Given the description of an element on the screen output the (x, y) to click on. 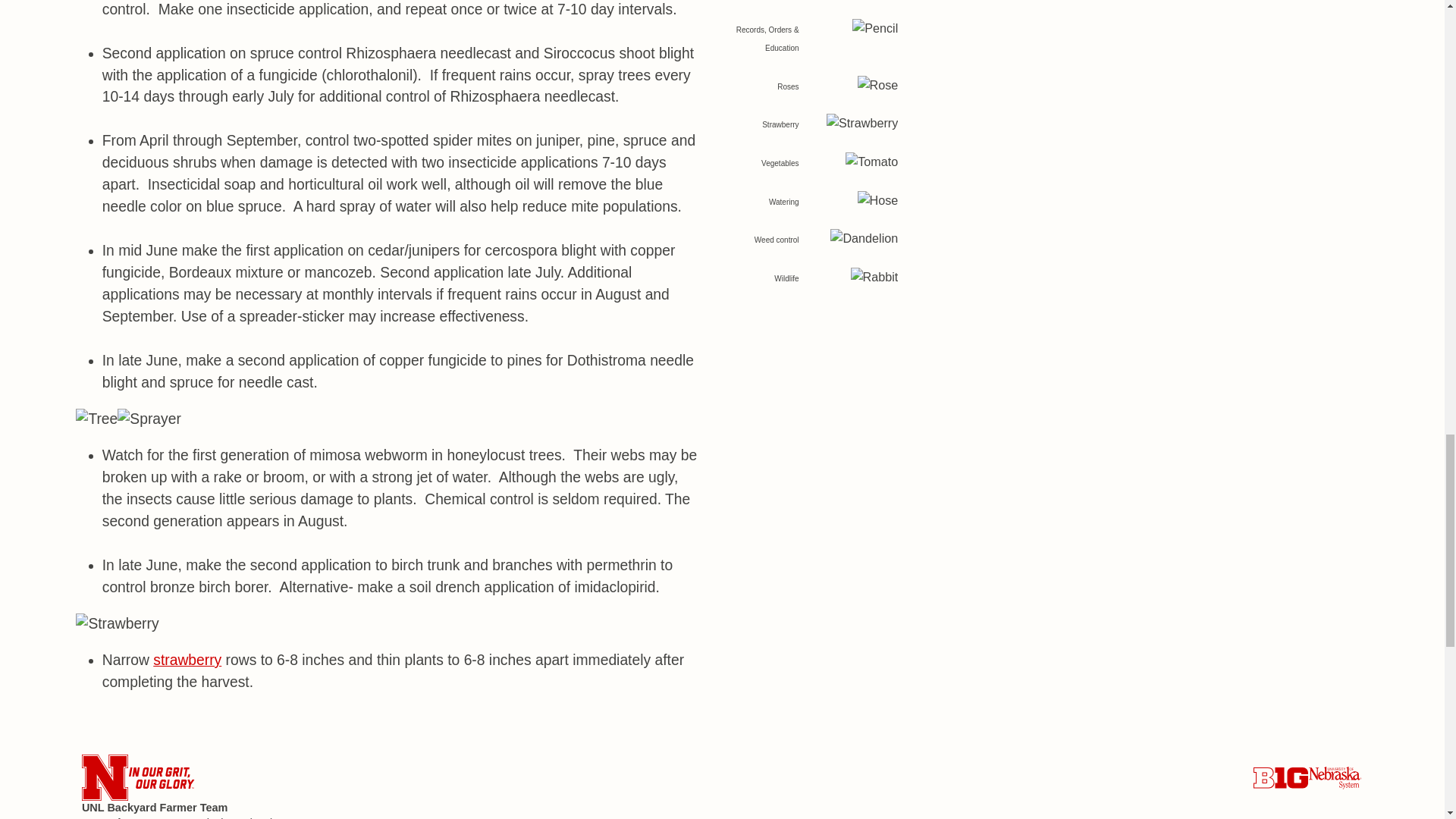
strawberry (186, 659)
